Given the description of an element on the screen output the (x, y) to click on. 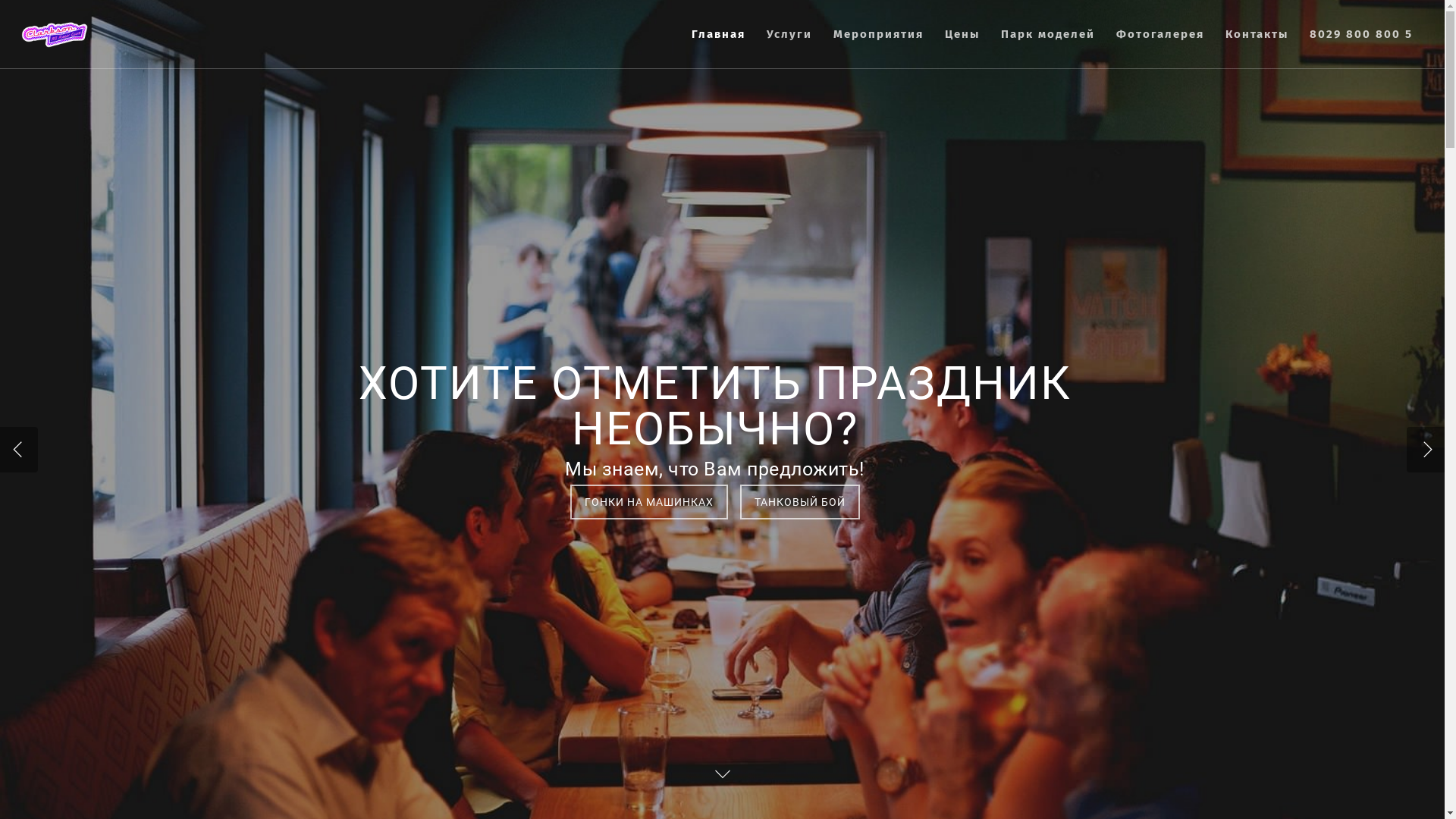
8029 800 800 5 Element type: text (1360, 45)
